Given the description of an element on the screen output the (x, y) to click on. 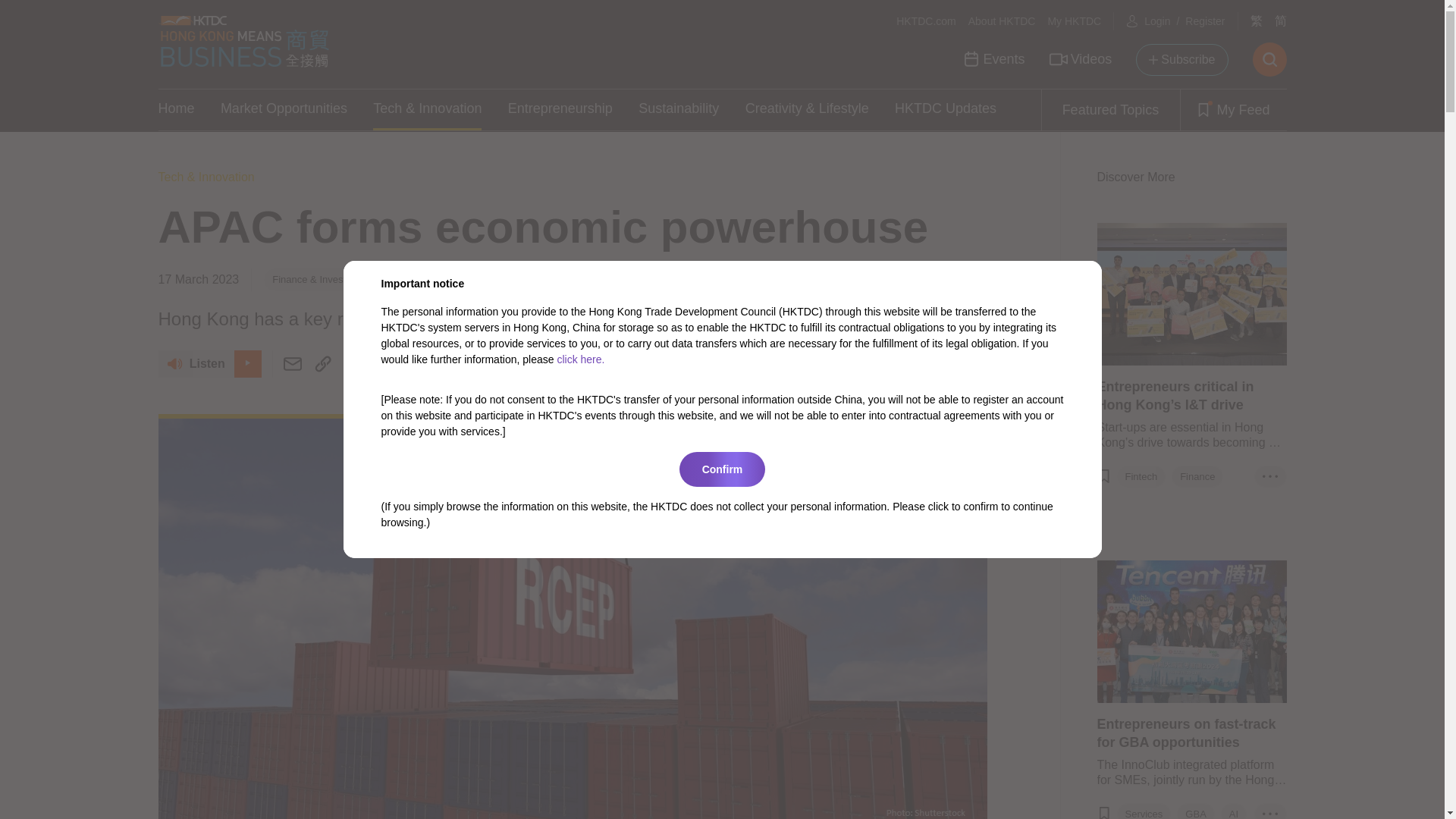
Subscribe (1181, 60)
Hong Kong (409, 279)
My Feed (1232, 109)
Sustainability (679, 109)
Services (1144, 812)
Finance (1196, 476)
Home (175, 109)
Listen to this page using ReadSpeaker webReader (208, 363)
Videos (1080, 59)
Market Opportunities (284, 109)
